Given the description of an element on the screen output the (x, y) to click on. 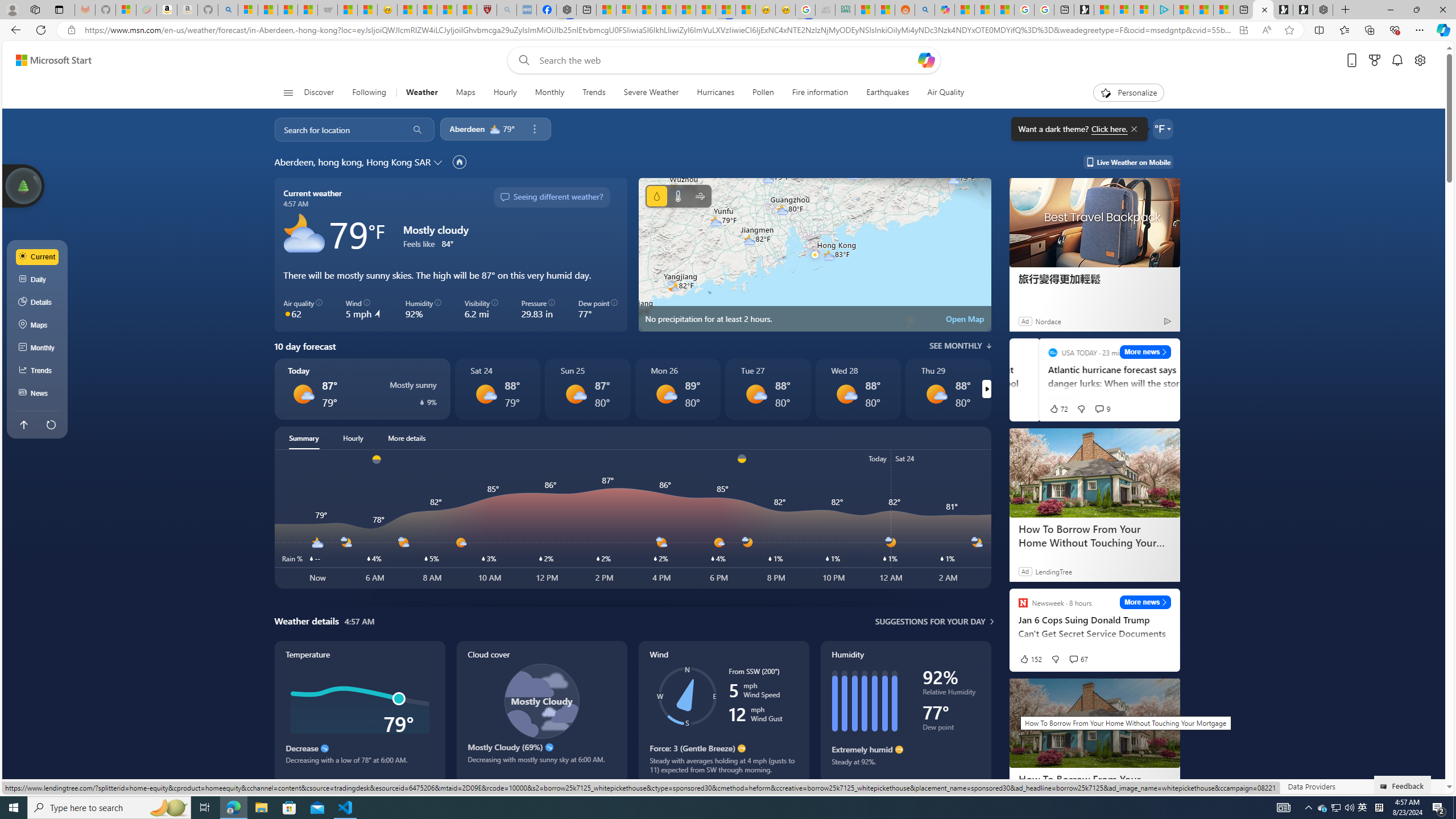
Skip to footer (46, 59)
Hurricanes (715, 92)
Remove location (534, 128)
Consumer Health Privacy (1080, 785)
Hourly (504, 92)
Mostly sunny (935, 393)
Maps (465, 92)
